Given the description of an element on the screen output the (x, y) to click on. 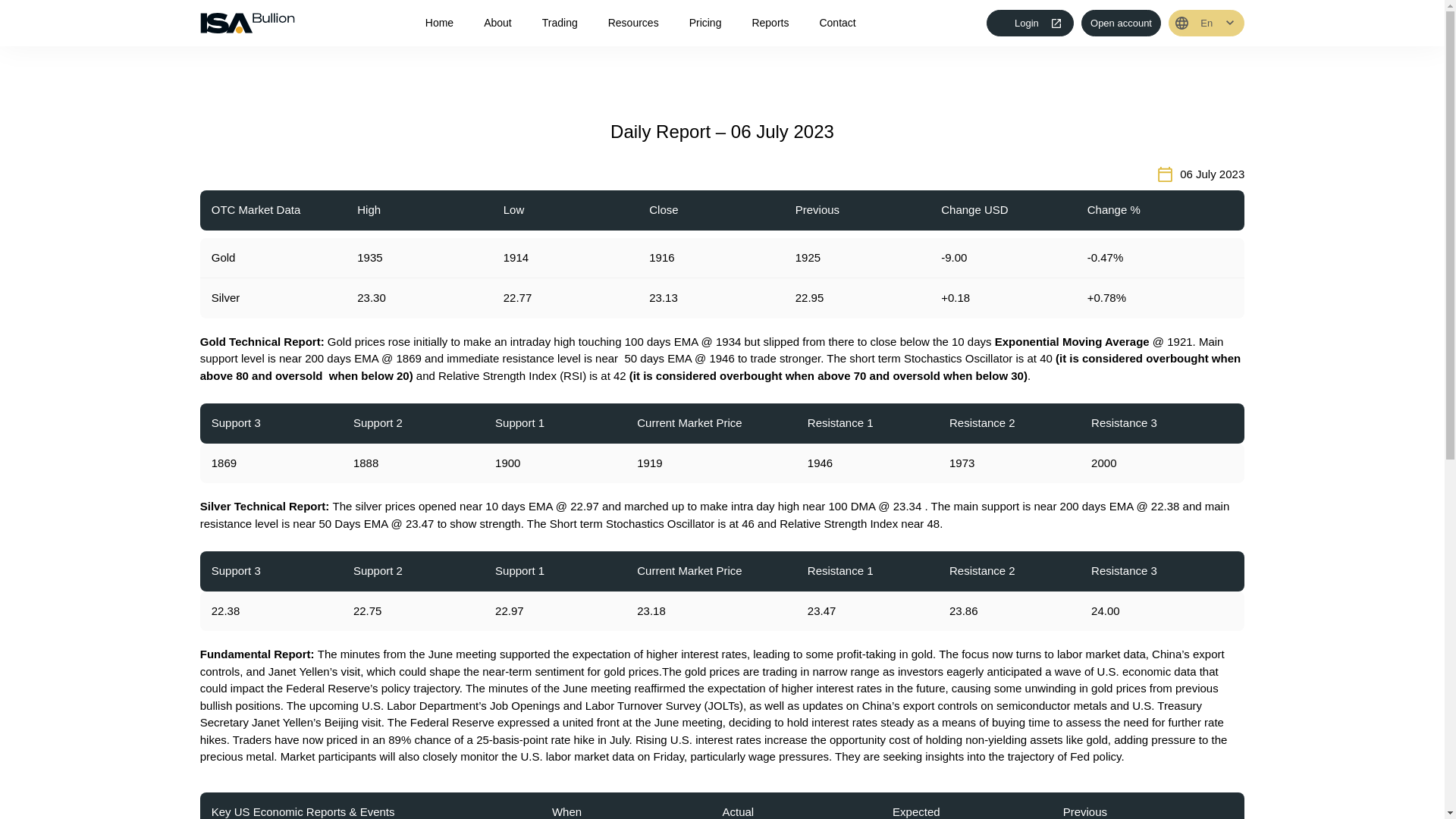
Login (1030, 22)
En (1206, 22)
Resources (633, 22)
Open account (1120, 22)
